Given the description of an element on the screen output the (x, y) to click on. 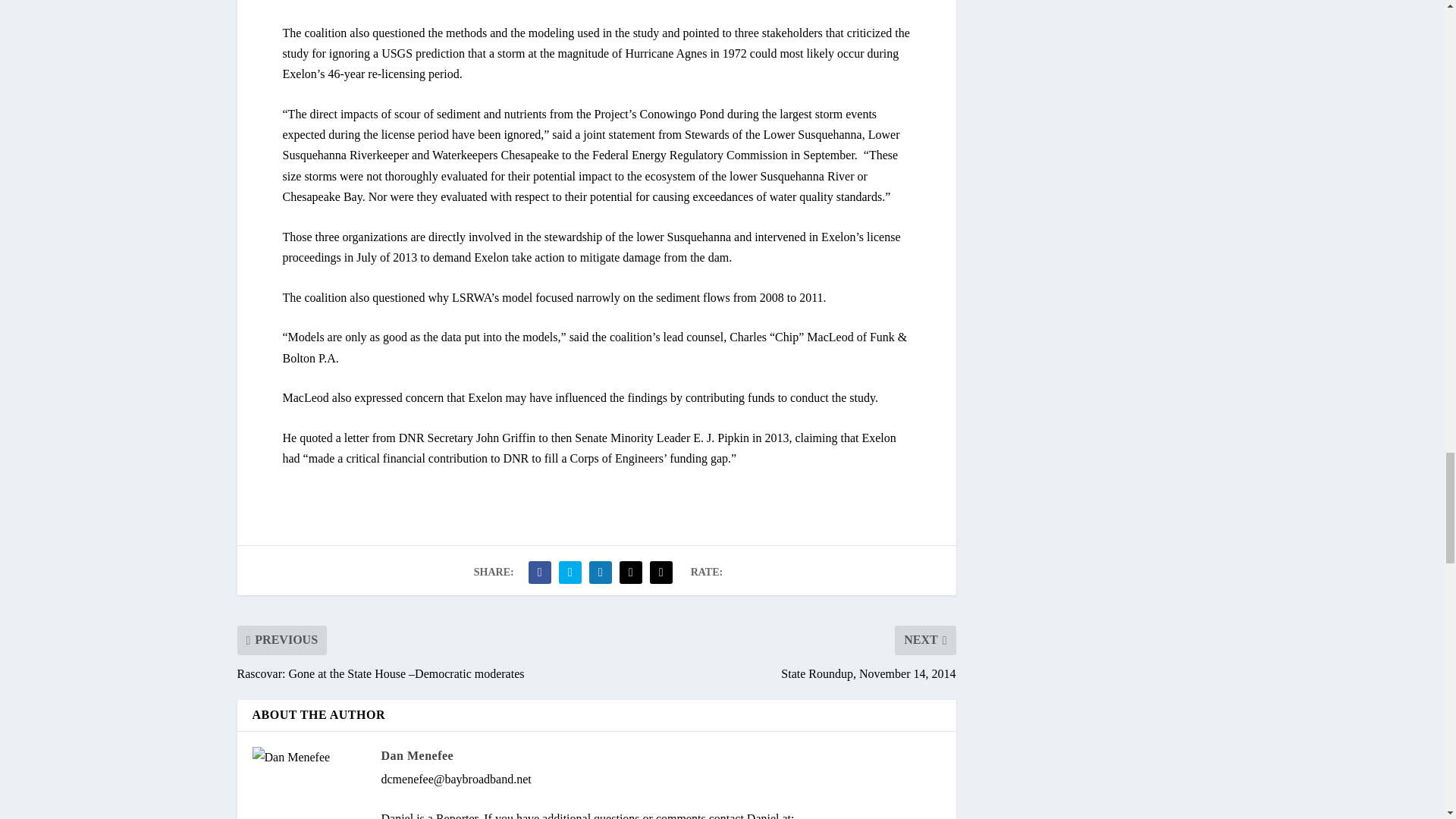
Dan Menefee (416, 755)
View all posts by Dan Menefee (416, 755)
